Given the description of an element on the screen output the (x, y) to click on. 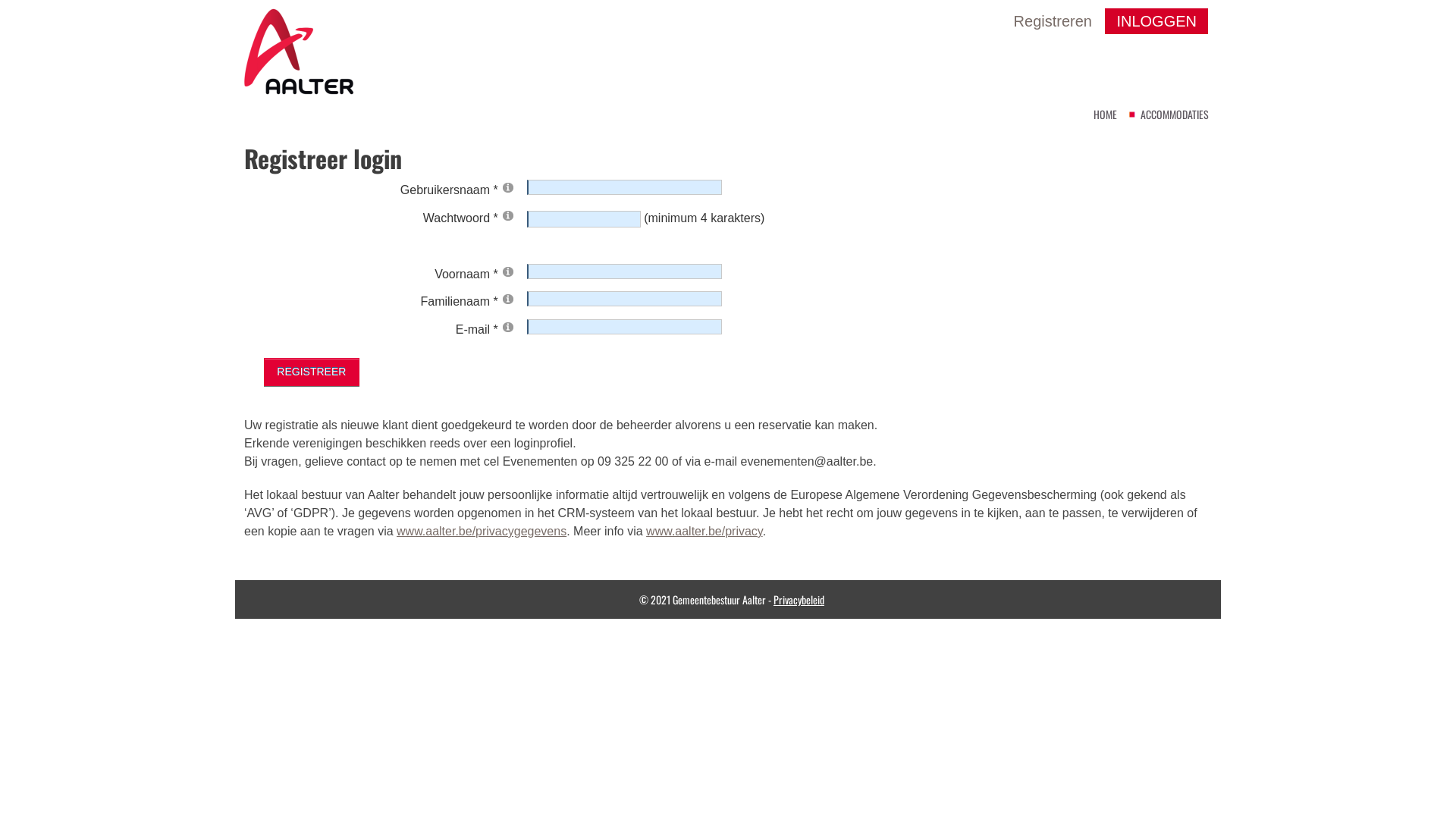
Registreren Element type: text (1057, 20)
www.aalter.be/privacygegevens Element type: text (481, 530)
Aalter Element type: hover (298, 49)
REGISTREER Element type: text (311, 371)
HOME Element type: text (1105, 114)
www.aalter.be/privacy Element type: text (704, 530)
ACCOMMODATIES Element type: text (1174, 114)
Privacybeleid Element type: text (798, 599)
INLOGGEN Element type: text (1156, 21)
